Given the description of an element on the screen output the (x, y) to click on. 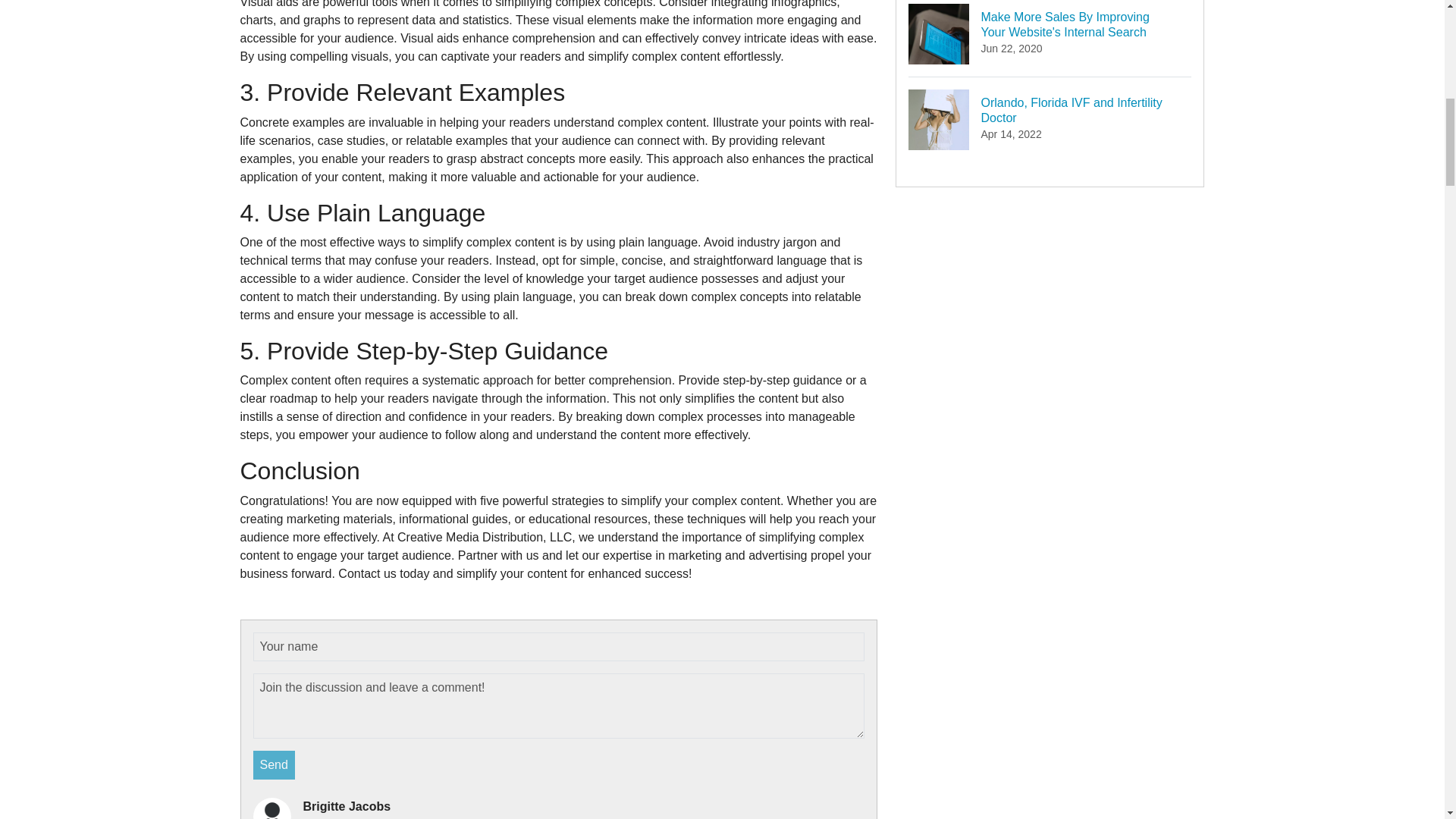
Send (1050, 119)
Send (274, 765)
